Given the description of an element on the screen output the (x, y) to click on. 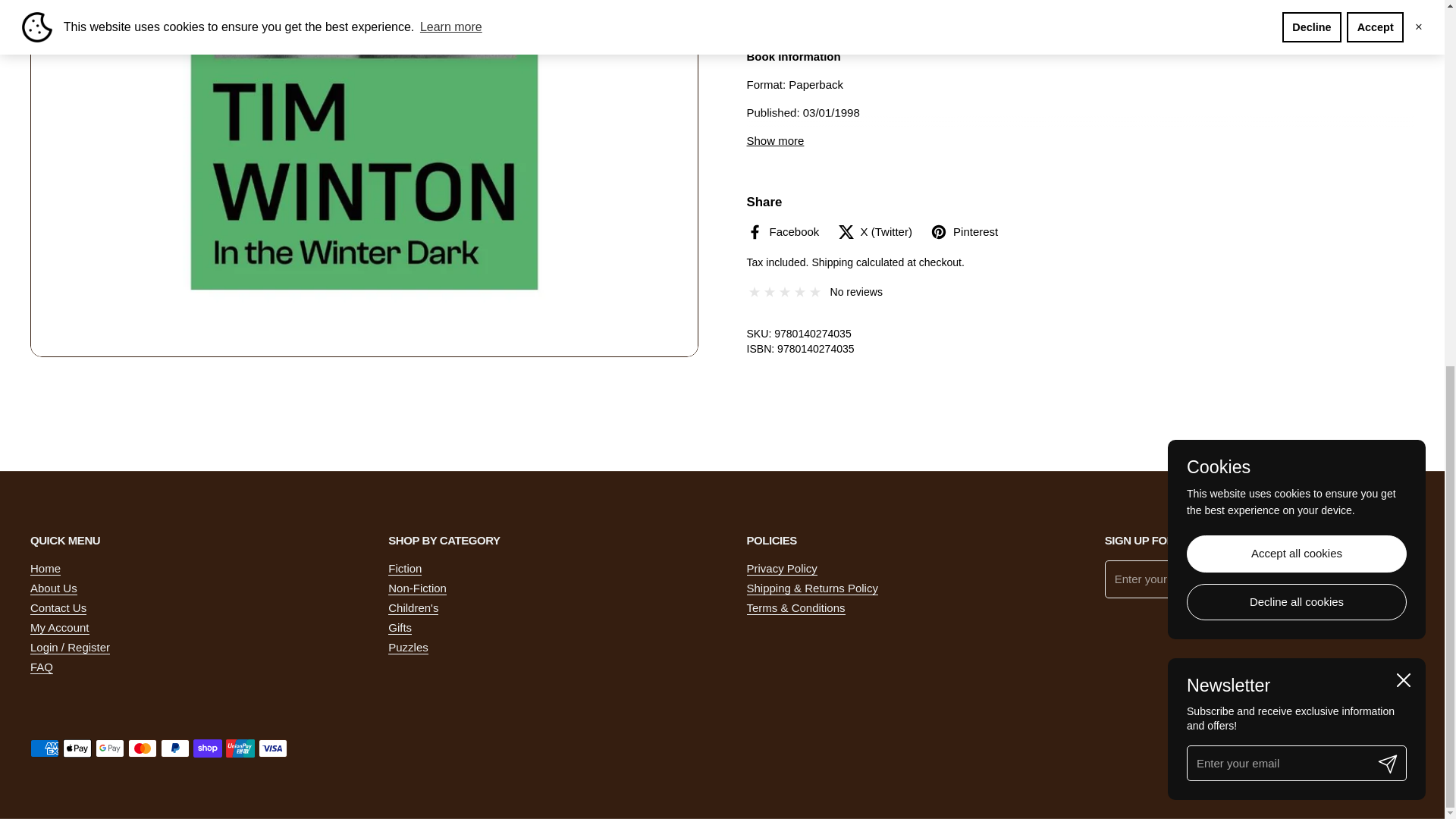
Facebook (781, 231)
Share on pinterest (963, 231)
Shipping (831, 262)
Share on facebook (781, 231)
Share on X (875, 231)
Pinterest (963, 231)
